Given the description of an element on the screen output the (x, y) to click on. 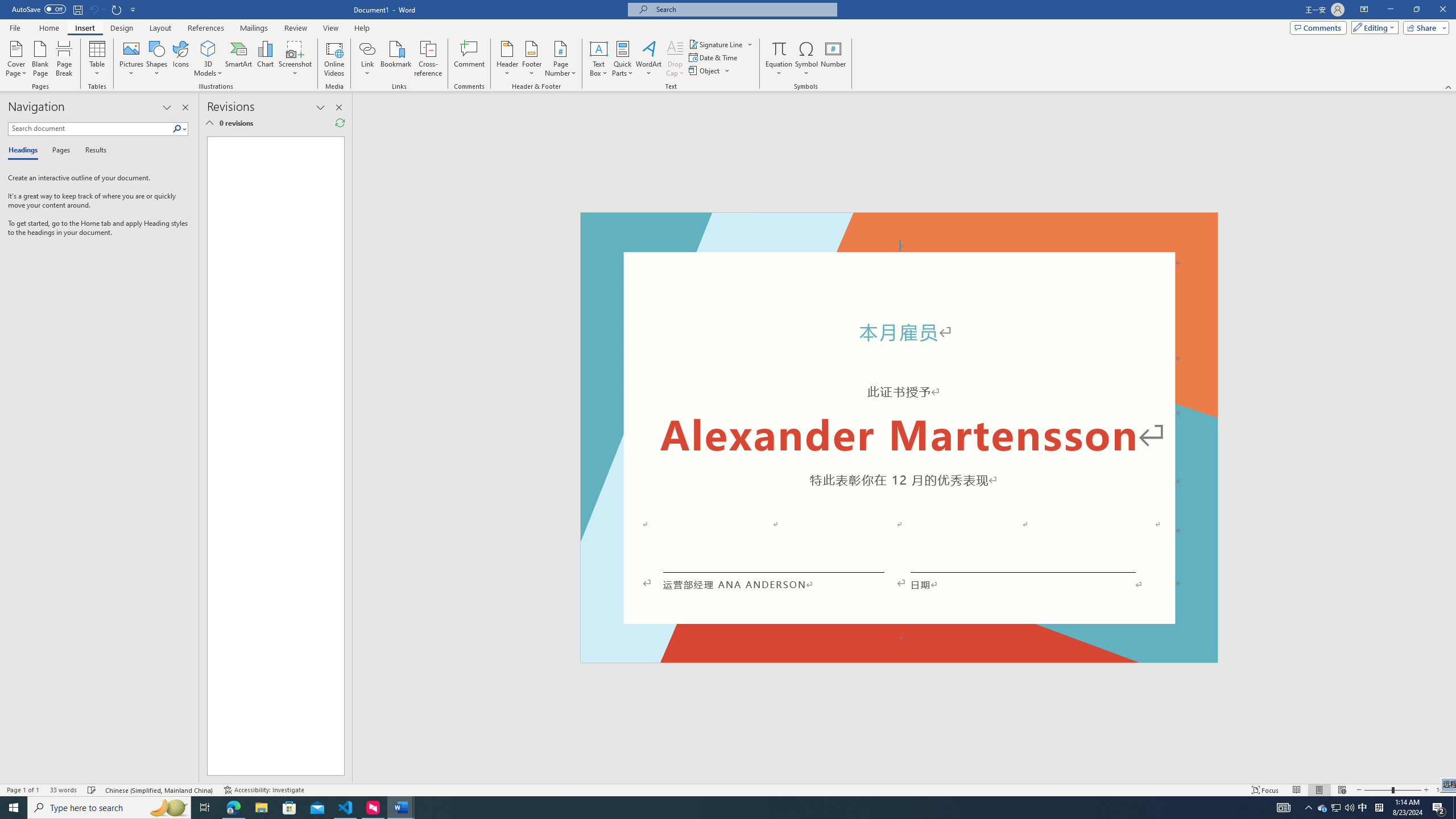
Quick Parts (622, 58)
Show Detailed Summary (209, 122)
WordArt (648, 58)
Header (507, 58)
Page 1 content (898, 445)
Drop Cap (674, 58)
Text Box (598, 58)
